Given the description of an element on the screen output the (x, y) to click on. 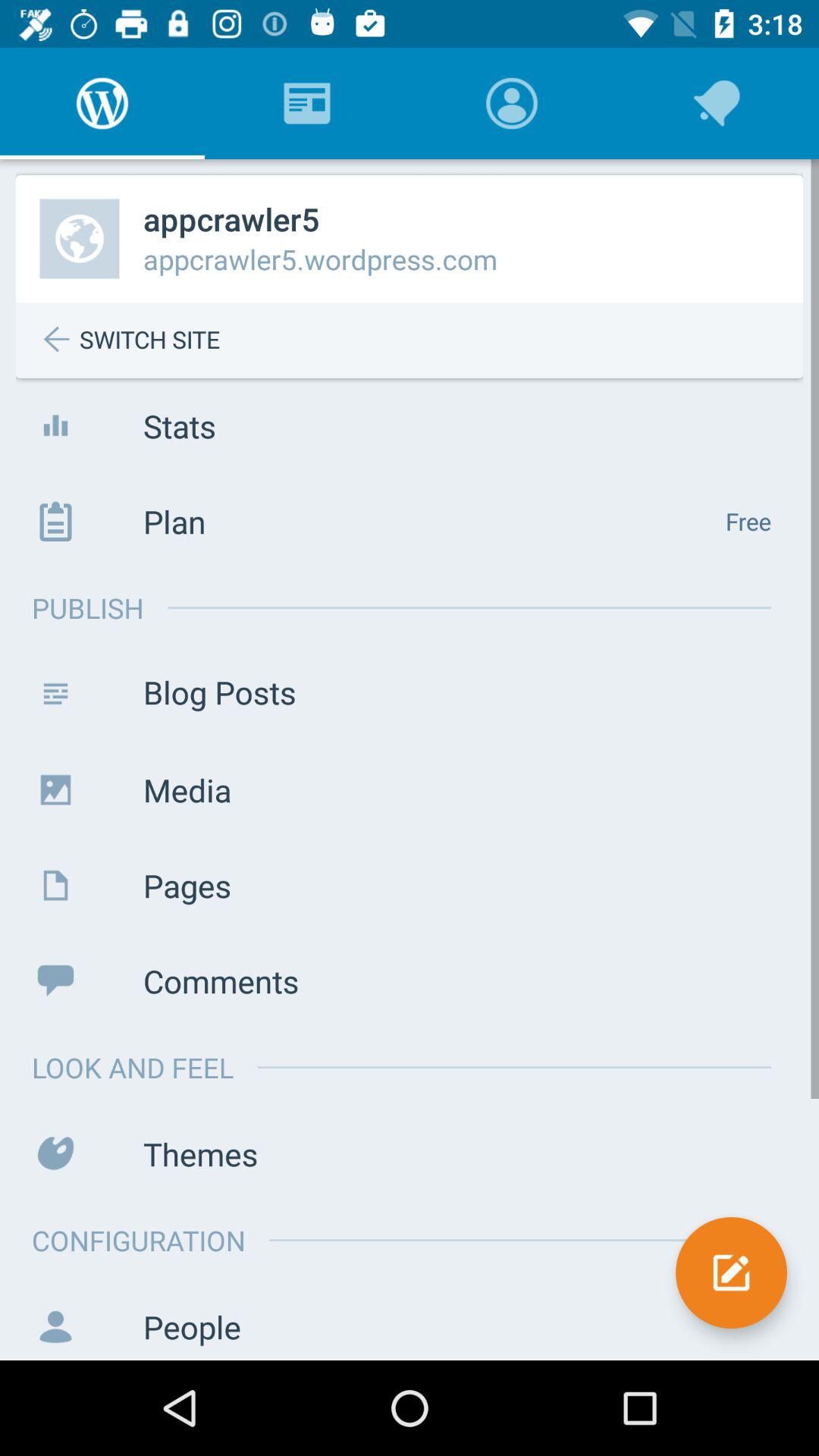
scroll to the switch site item (421, 340)
